Given the description of an element on the screen output the (x, y) to click on. 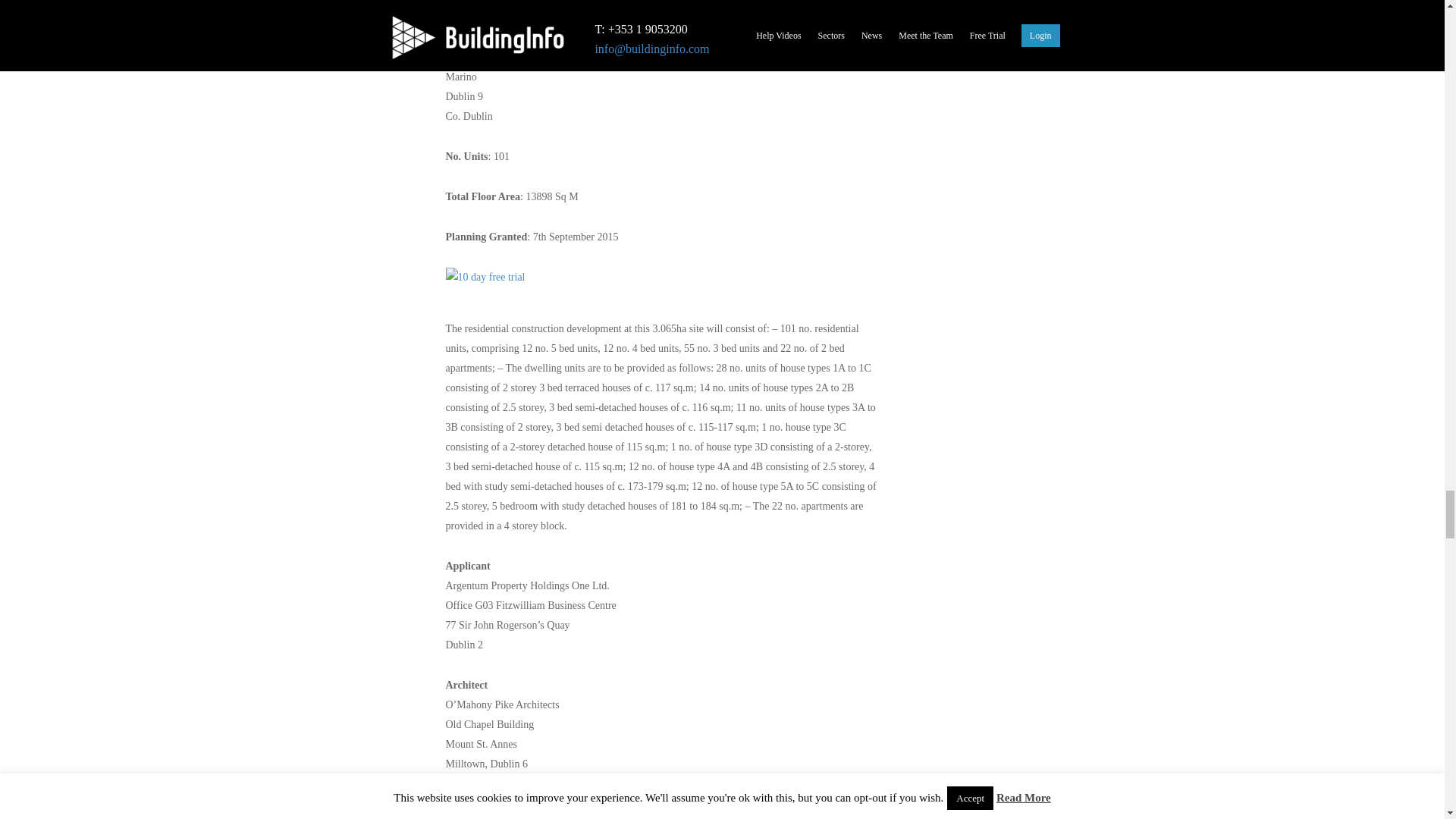
Love this (399, 1)
